Given the description of an element on the screen output the (x, y) to click on. 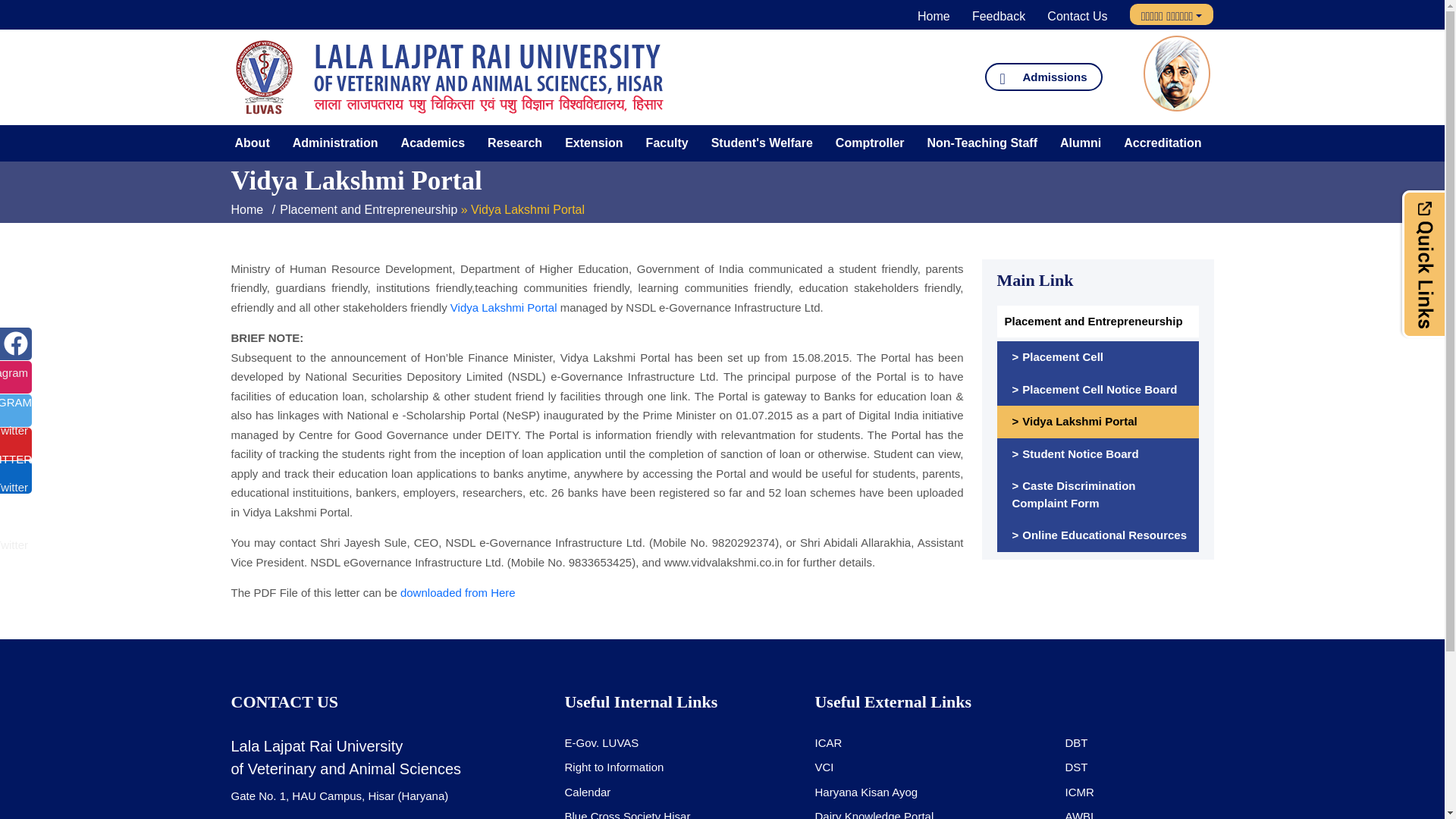
About (251, 142)
LUVAS Facebook (15, 343)
LUVAS Twitter (13, 429)
Feedback (998, 15)
LUVAS Instagram (13, 373)
LUVAS Linkedin (13, 545)
Home (933, 15)
LUVAS YouTube (13, 487)
Administration (334, 142)
Admissions (1043, 76)
